Given the description of an element on the screen output the (x, y) to click on. 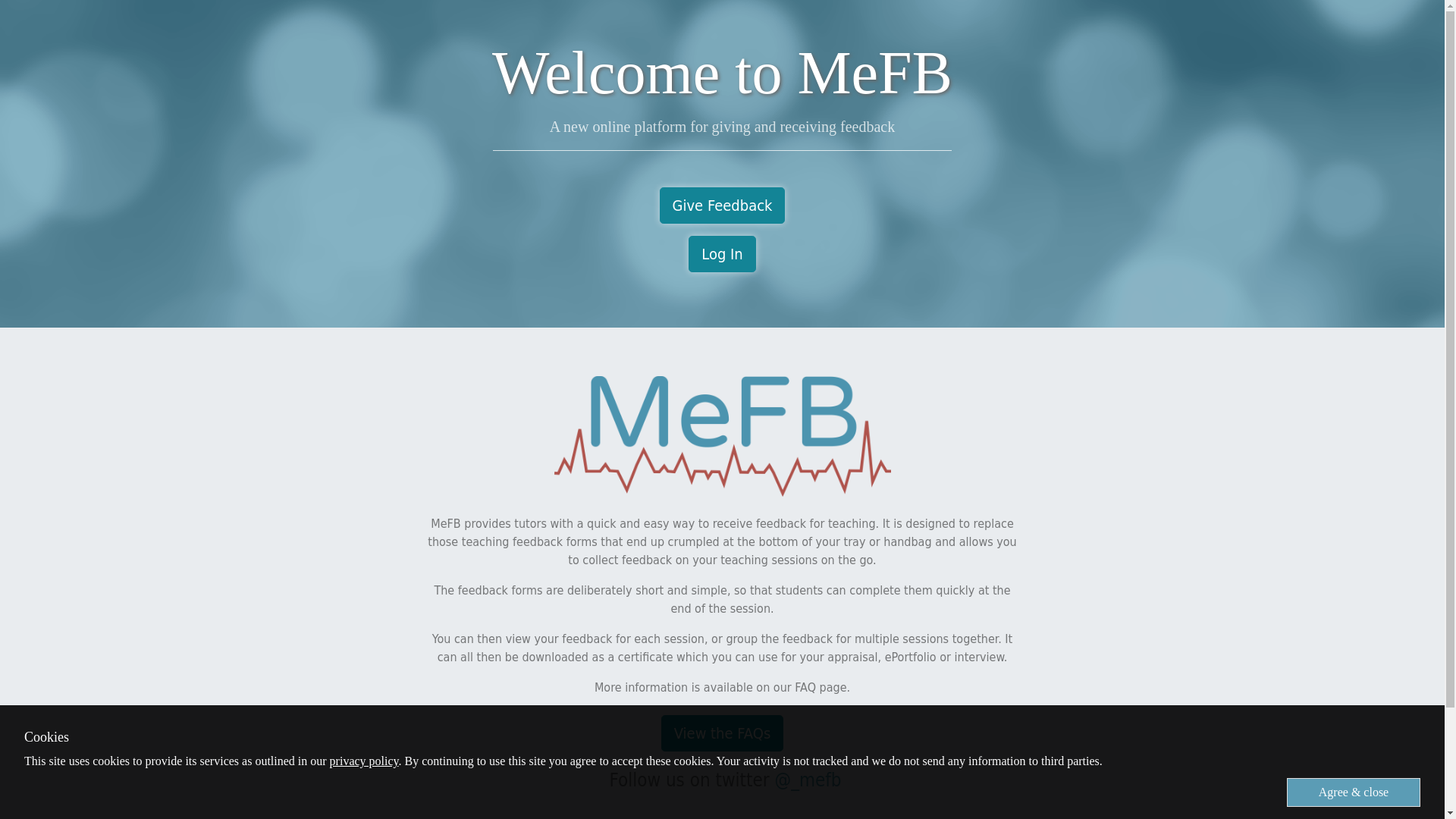
Give Feedback (722, 205)
View the FAQs (722, 732)
privacy policy (364, 760)
Log In (721, 253)
